Given the description of an element on the screen output the (x, y) to click on. 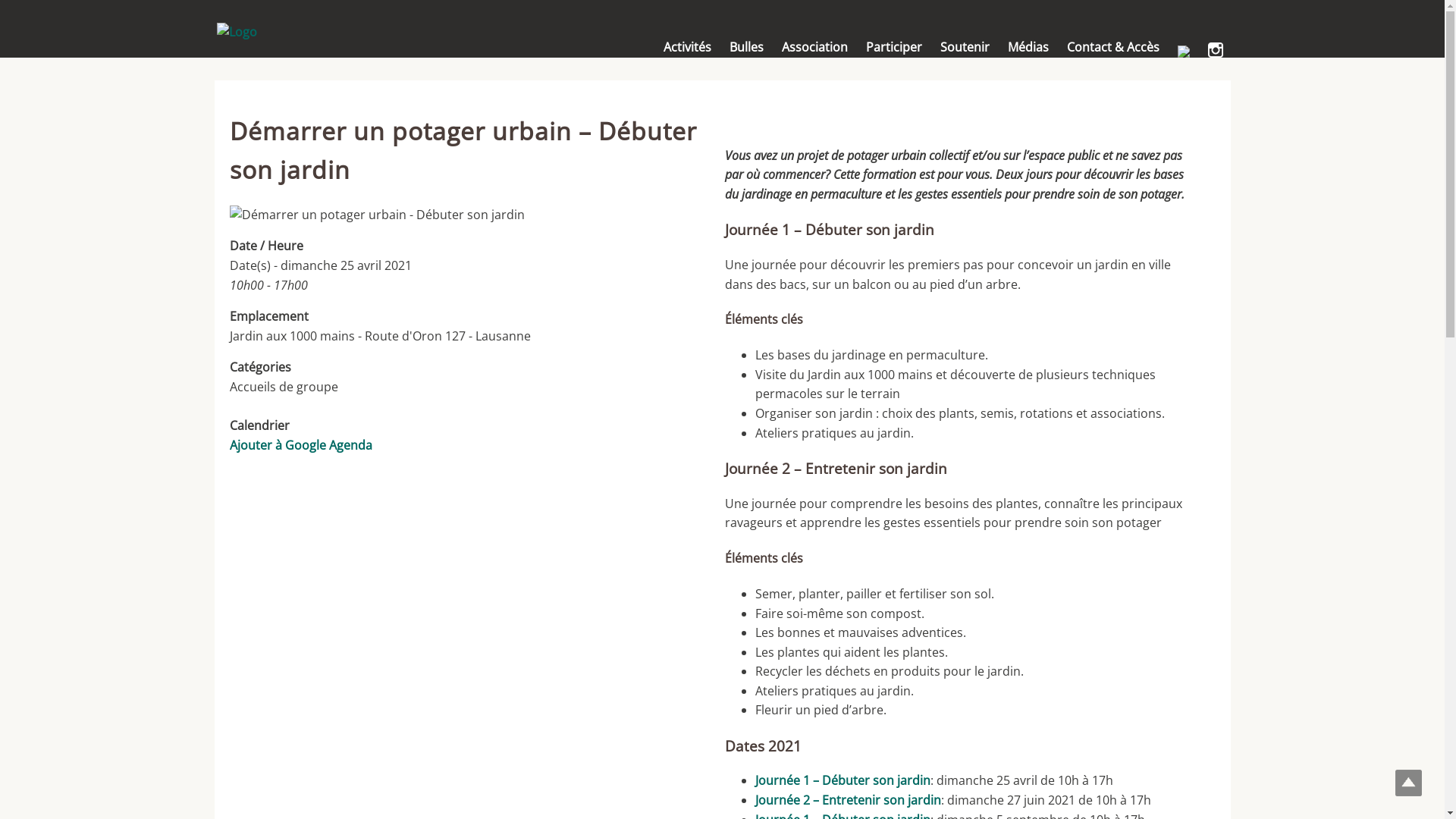
Soutenir Element type: text (964, 46)
Association Element type: text (814, 46)
Bulles Element type: text (746, 46)
Participer Element type: text (894, 46)
Top Element type: text (1408, 782)
